Given the description of an element on the screen output the (x, y) to click on. 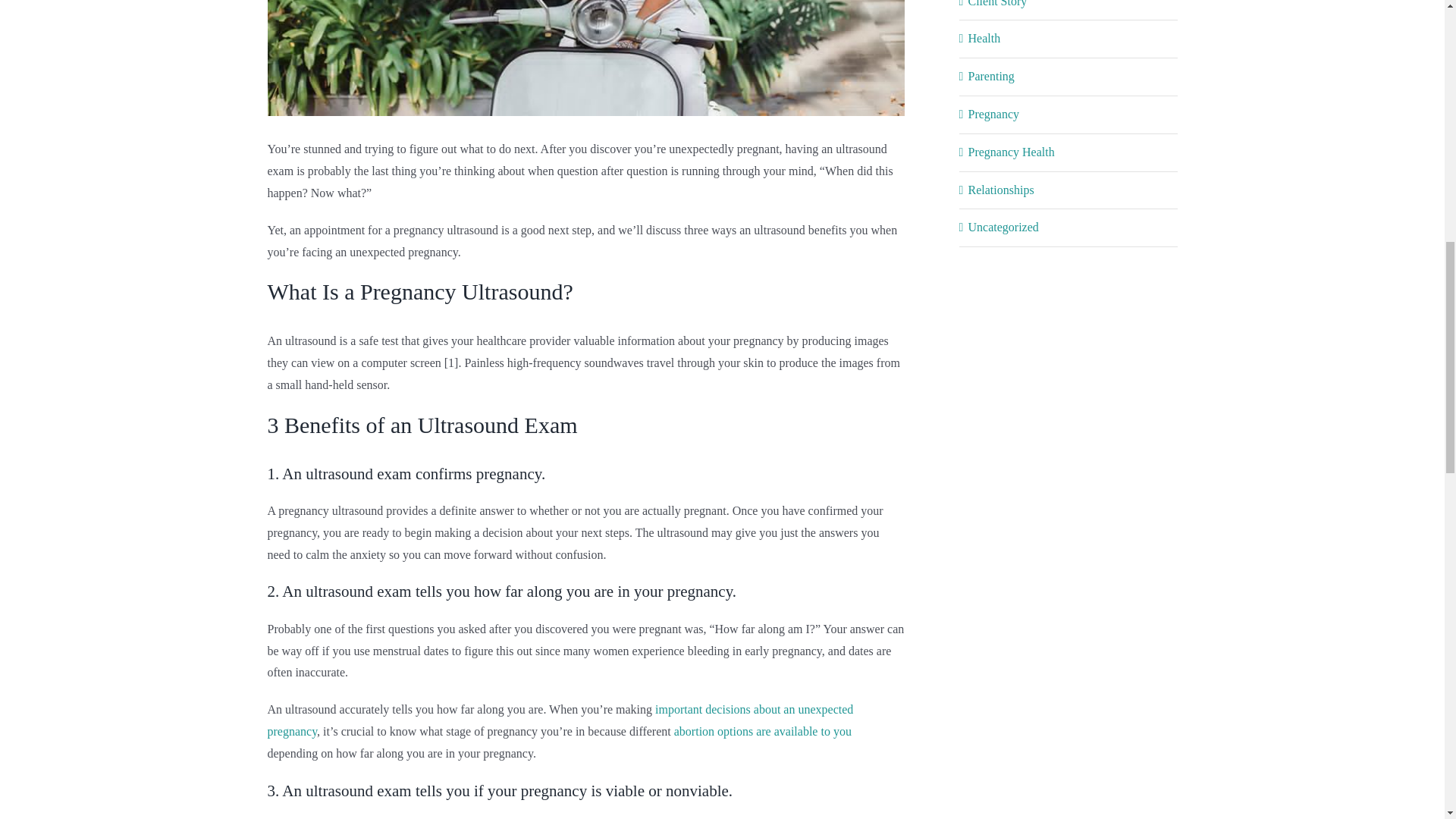
abortion options are available to you (762, 730)
View Larger Image (585, 58)
important decisions about an unexpected pregnancy (559, 719)
